Given the description of an element on the screen output the (x, y) to click on. 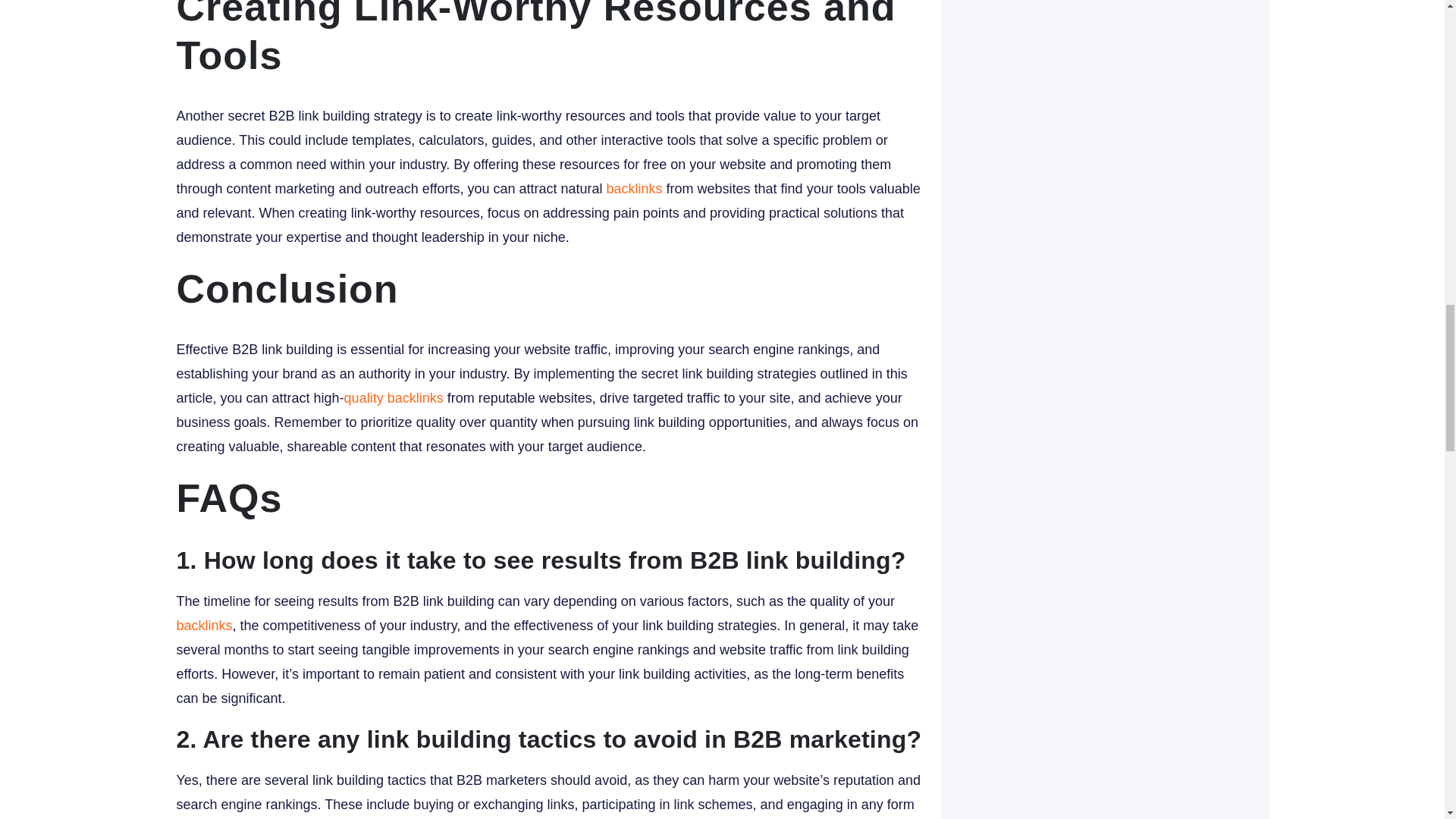
backlinks (634, 188)
backlinks (203, 625)
quality backlinks (393, 397)
